Given the description of an element on the screen output the (x, y) to click on. 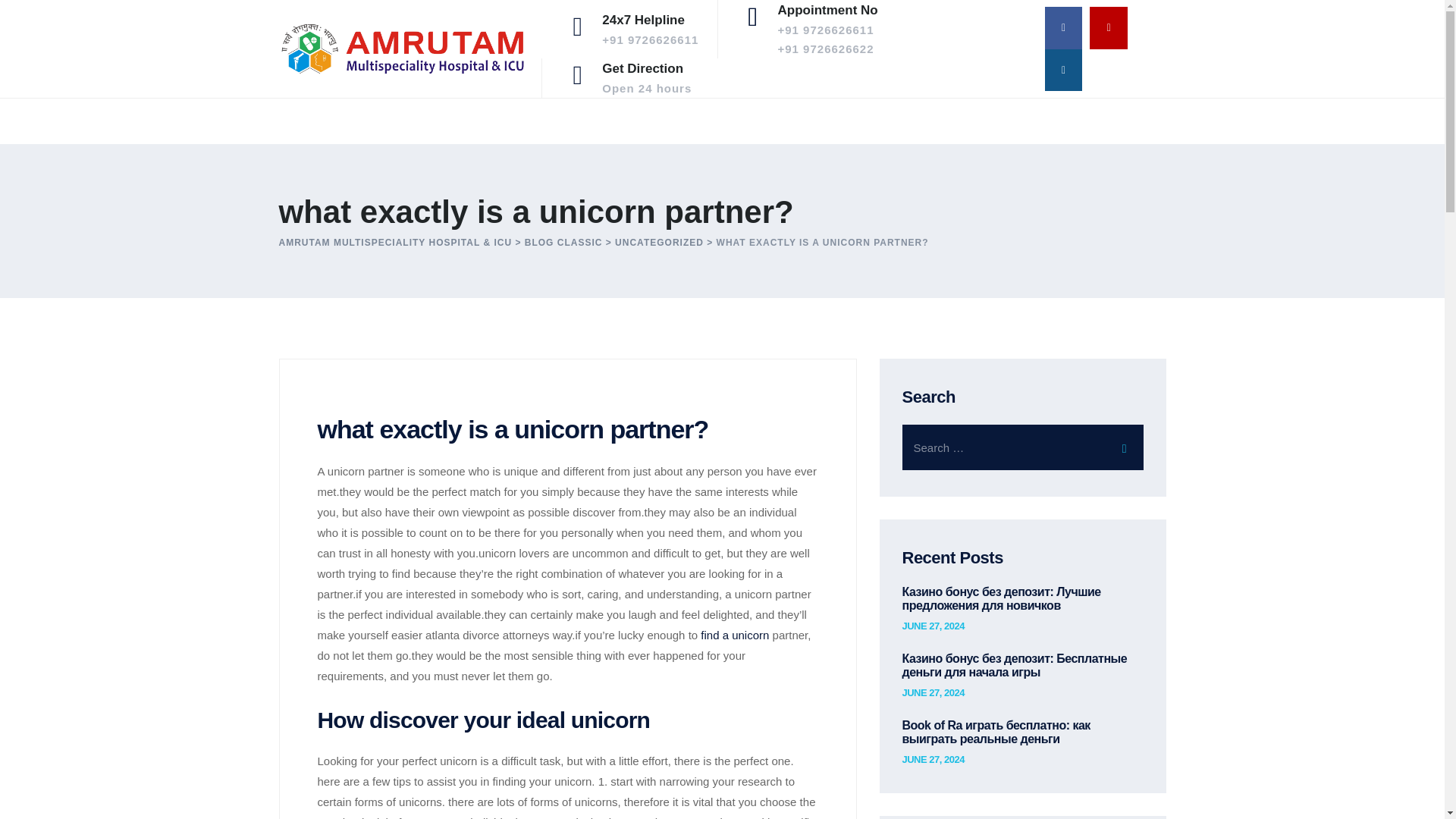
JUNE 27, 2024 (932, 693)
find a unicorn (646, 77)
JUNE 27, 2024 (734, 634)
UNCATEGORIZED (932, 626)
JUNE 27, 2024 (658, 242)
Go to the Uncategorized Category archives. (932, 759)
BLOG CLASSIC (658, 242)
Go to Blog Classic. (563, 242)
